Given the description of an element on the screen output the (x, y) to click on. 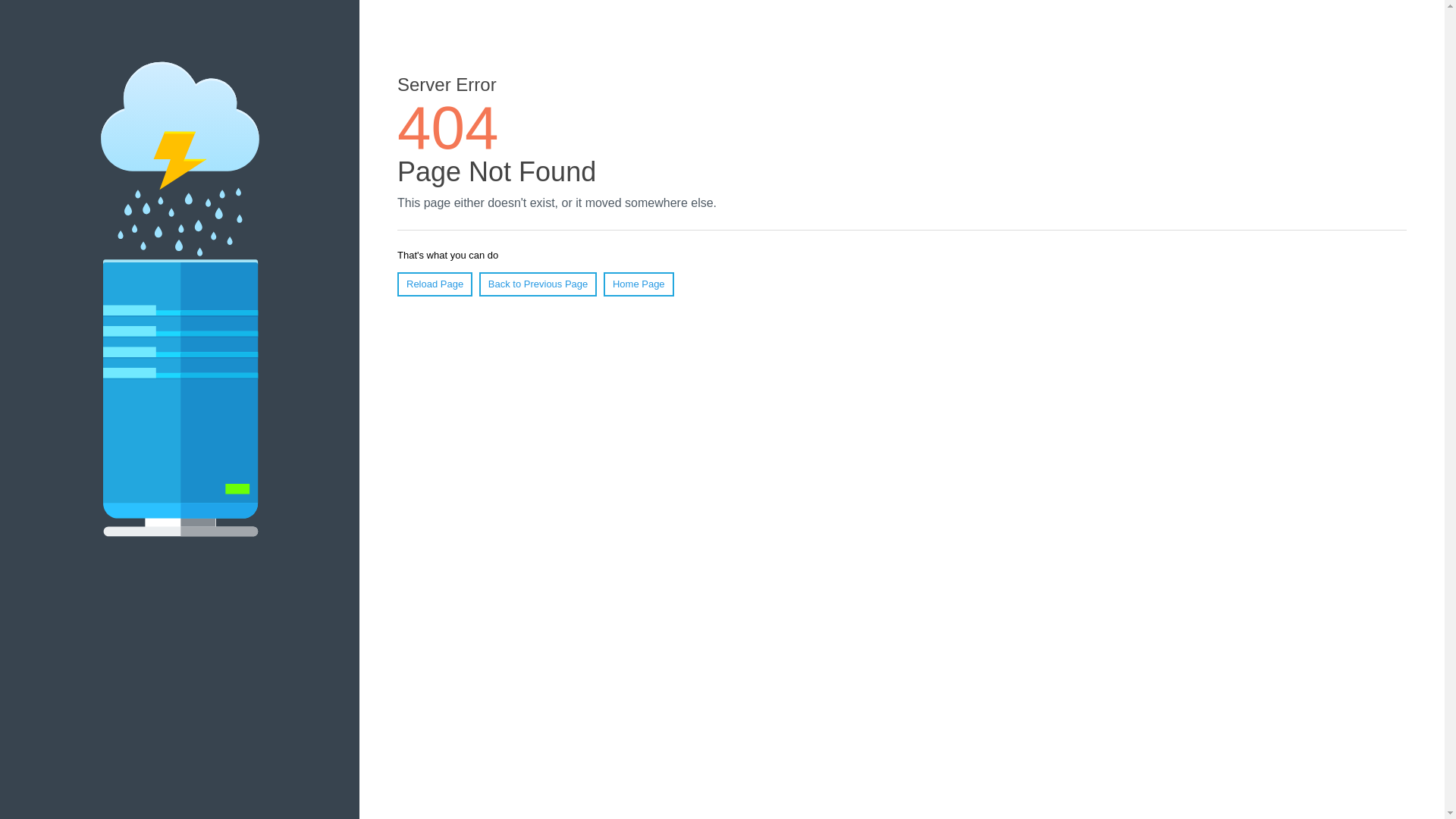
Reload Page Element type: text (434, 284)
Home Page Element type: text (638, 284)
Back to Previous Page Element type: text (538, 284)
